Given the description of an element on the screen output the (x, y) to click on. 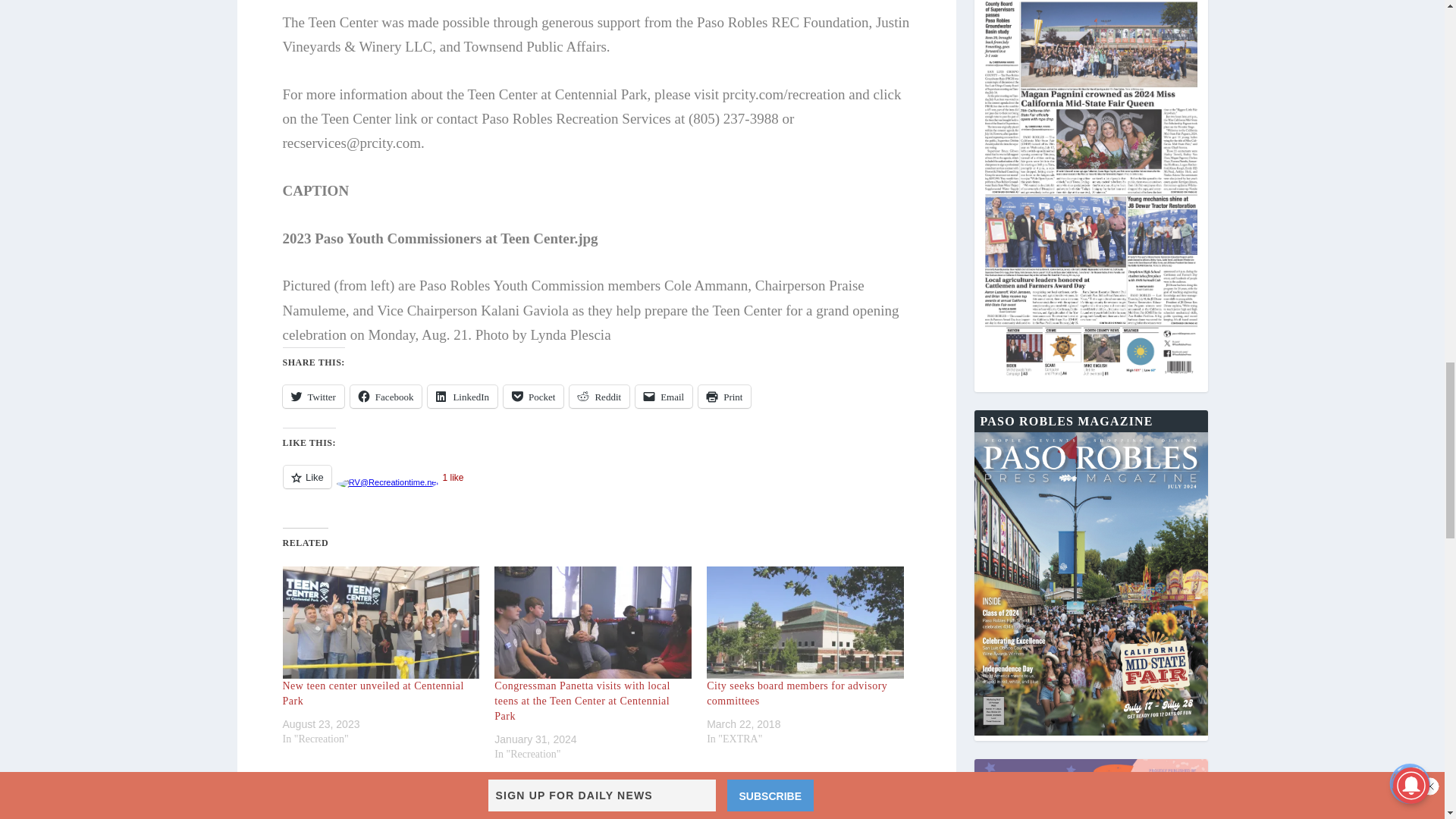
Click to share on Facebook (386, 395)
LinkedIn (462, 395)
Click to share on Pocket (533, 395)
Facebook (386, 395)
Click to share on Reddit (598, 395)
New teen center unveiled at Centennial Park (372, 693)
Click to share on Twitter (312, 395)
Print (724, 395)
New teen center unveiled at Centennial Park (380, 622)
Email (663, 395)
Click to email a link to a friend (663, 395)
City seeks board members for advisory committees (805, 622)
Like or Reblog (596, 485)
Click to print (724, 395)
